Given the description of an element on the screen output the (x, y) to click on. 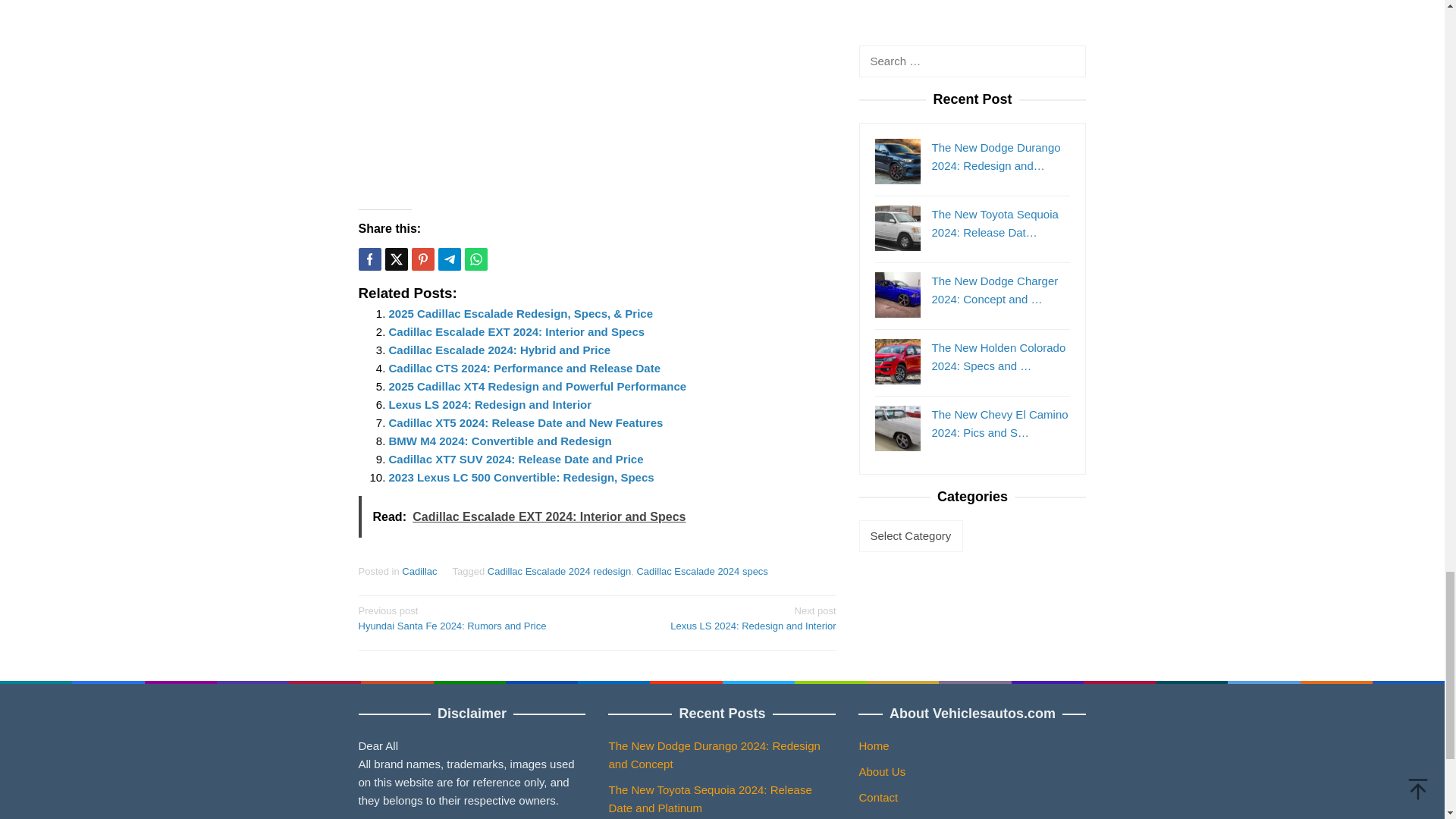
Cadillac CTS 2024: Performance and Release Date (524, 367)
Cadillac XT5 2024: Release Date and New Features (525, 422)
Lexus LS 2024: Redesign and Interior (489, 404)
Pin this (421, 259)
Cadillac XT7 SUV 2024: Release Date and Price (515, 459)
2025 Cadillac XT4 Redesign and Powerful Performance (536, 386)
Cadillac Escalade 2024: Hybrid and Price (499, 349)
Tweet this (396, 259)
Cadillac Escalade EXT 2024: Interior and Specs (516, 331)
Telegram Share (449, 259)
